Given the description of an element on the screen output the (x, y) to click on. 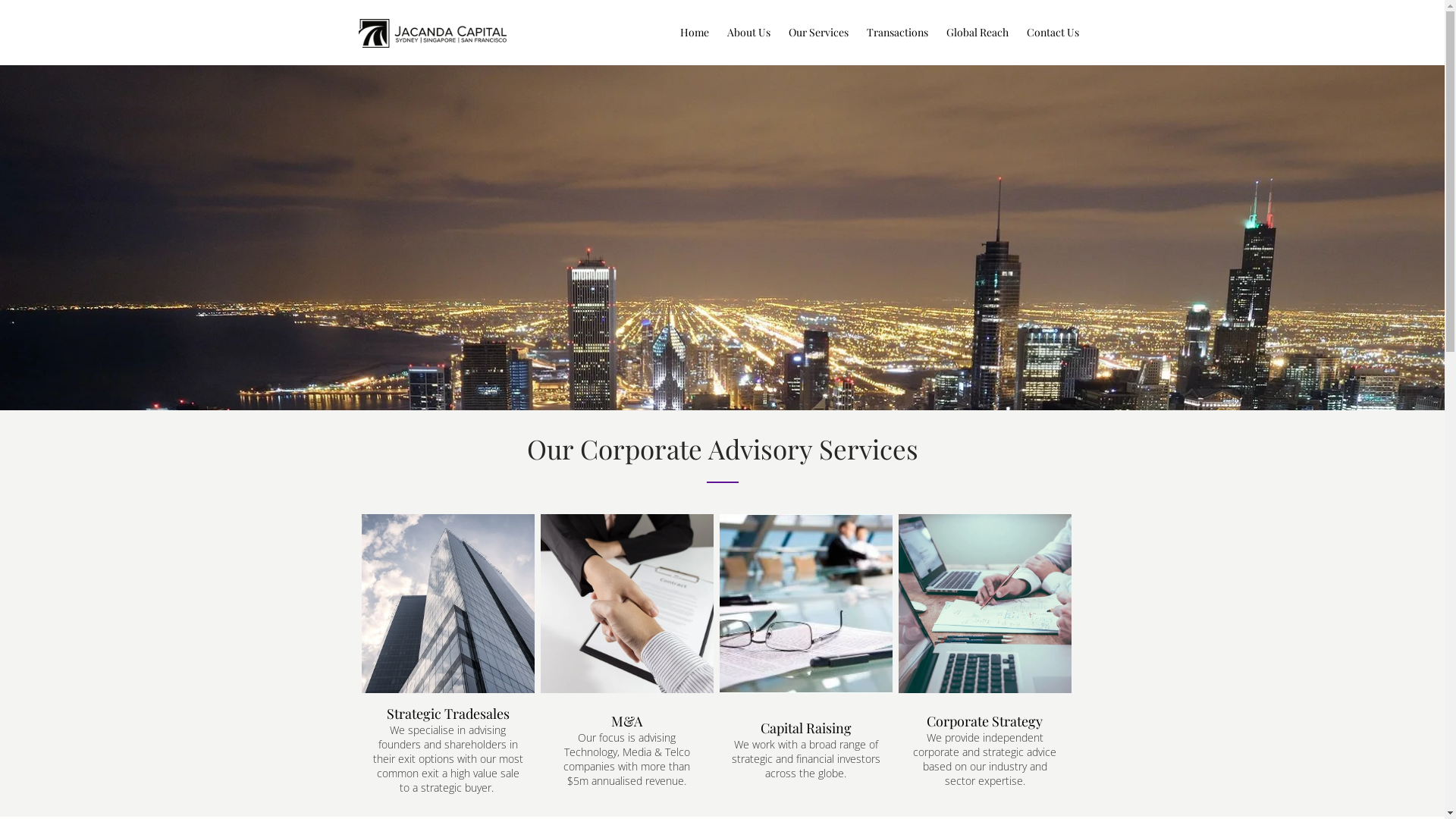
Our Services Element type: text (818, 30)
Global Reach Element type: text (977, 30)
About Us Element type: text (747, 30)
Transactions Element type: text (896, 30)
Contact Us Element type: text (1052, 30)
Home Element type: text (693, 30)
